Given the description of an element on the screen output the (x, y) to click on. 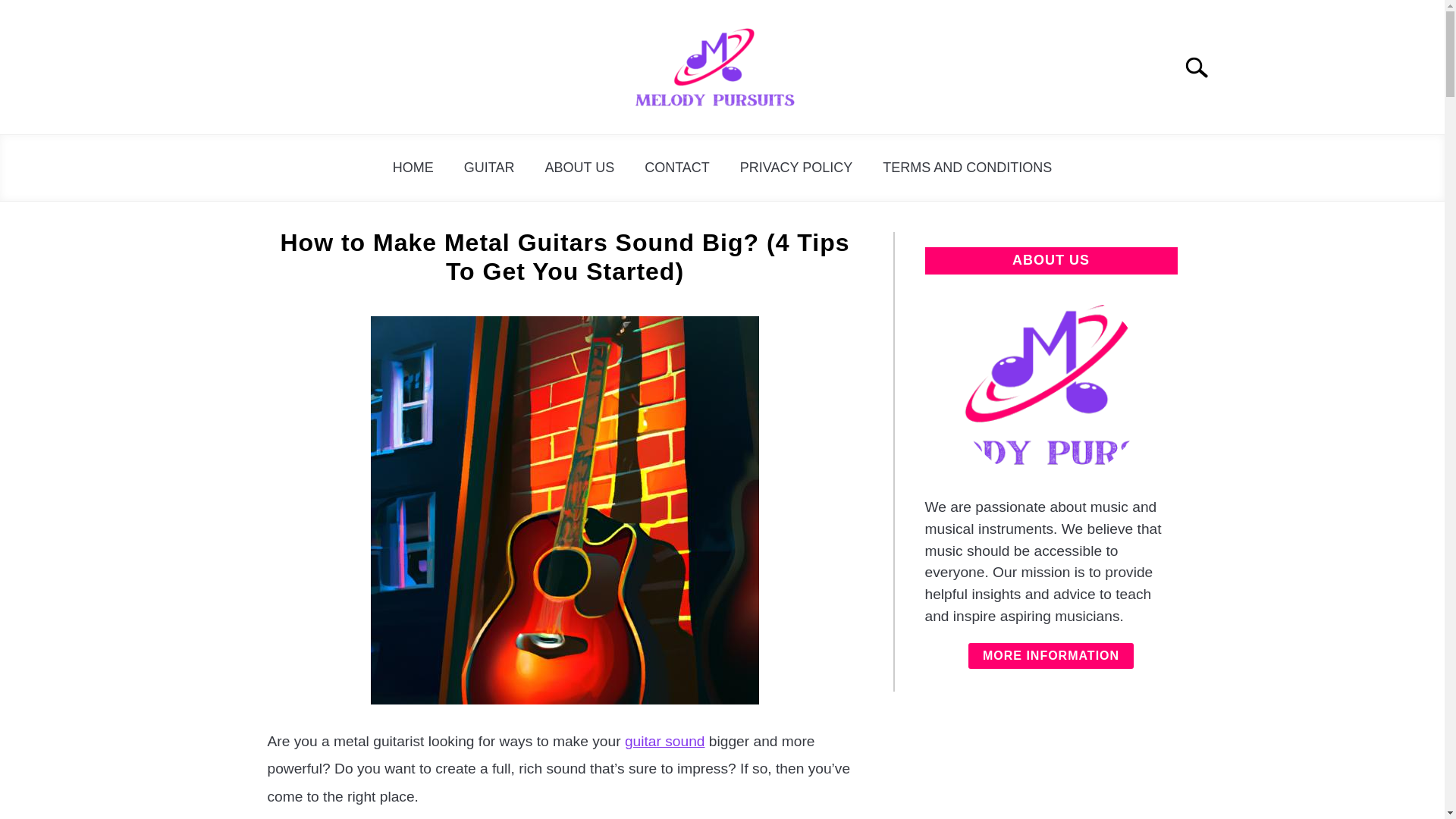
Search (1203, 67)
CONTACT (676, 167)
ABOUT US (578, 167)
MORE INFORMATION (1051, 655)
guitar sound (664, 741)
HOME (412, 167)
TERMS AND CONDITIONS (967, 167)
GUITAR (488, 167)
PRIVACY POLICY (796, 167)
